Given the description of an element on the screen output the (x, y) to click on. 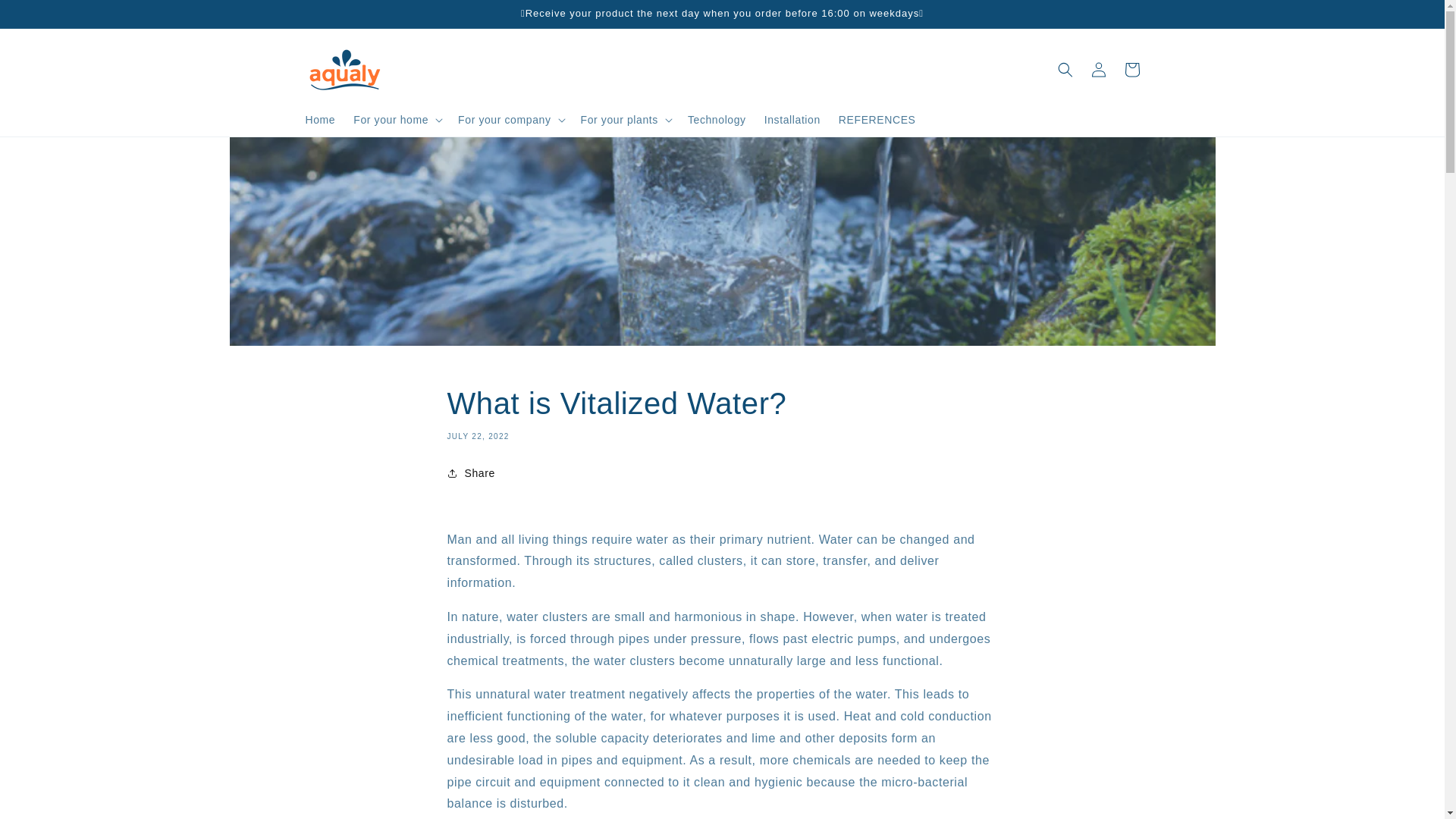
Home (319, 119)
Skip to content (45, 17)
Technology (716, 119)
Log in (1098, 69)
Cart (1131, 69)
REFERENCES (876, 119)
Installation (792, 119)
